Given the description of an element on the screen output the (x, y) to click on. 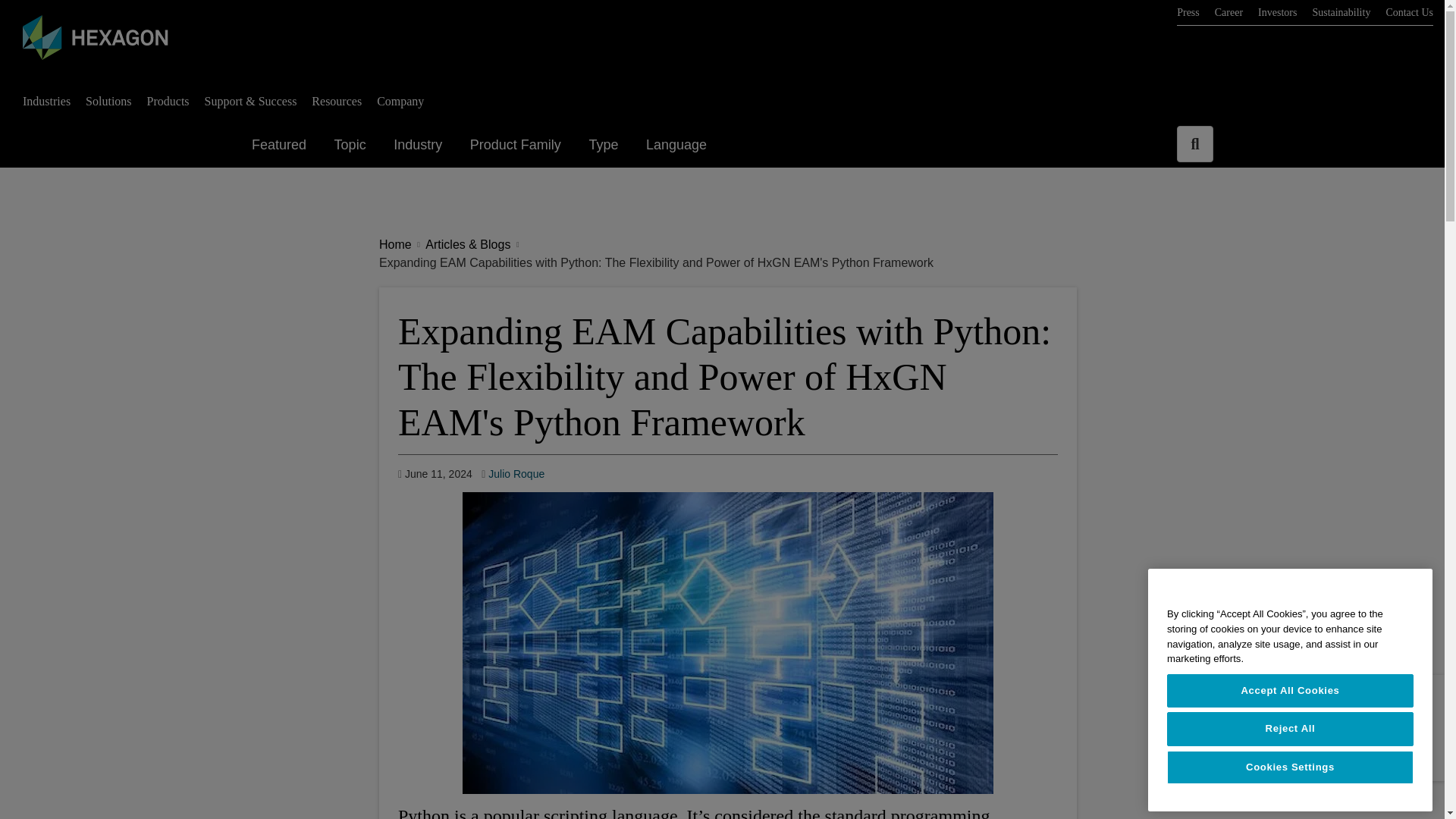
Solutions (351, 144)
Investors (108, 101)
Open Search Box (1277, 12)
Career (1194, 144)
Contact Us (1228, 12)
Sustainability (1409, 12)
Company (1340, 12)
Industries (400, 101)
Resources (46, 101)
Published Date (336, 101)
Press (434, 474)
Products (1187, 12)
Author (168, 101)
Featured (512, 474)
